Given the description of an element on the screen output the (x, y) to click on. 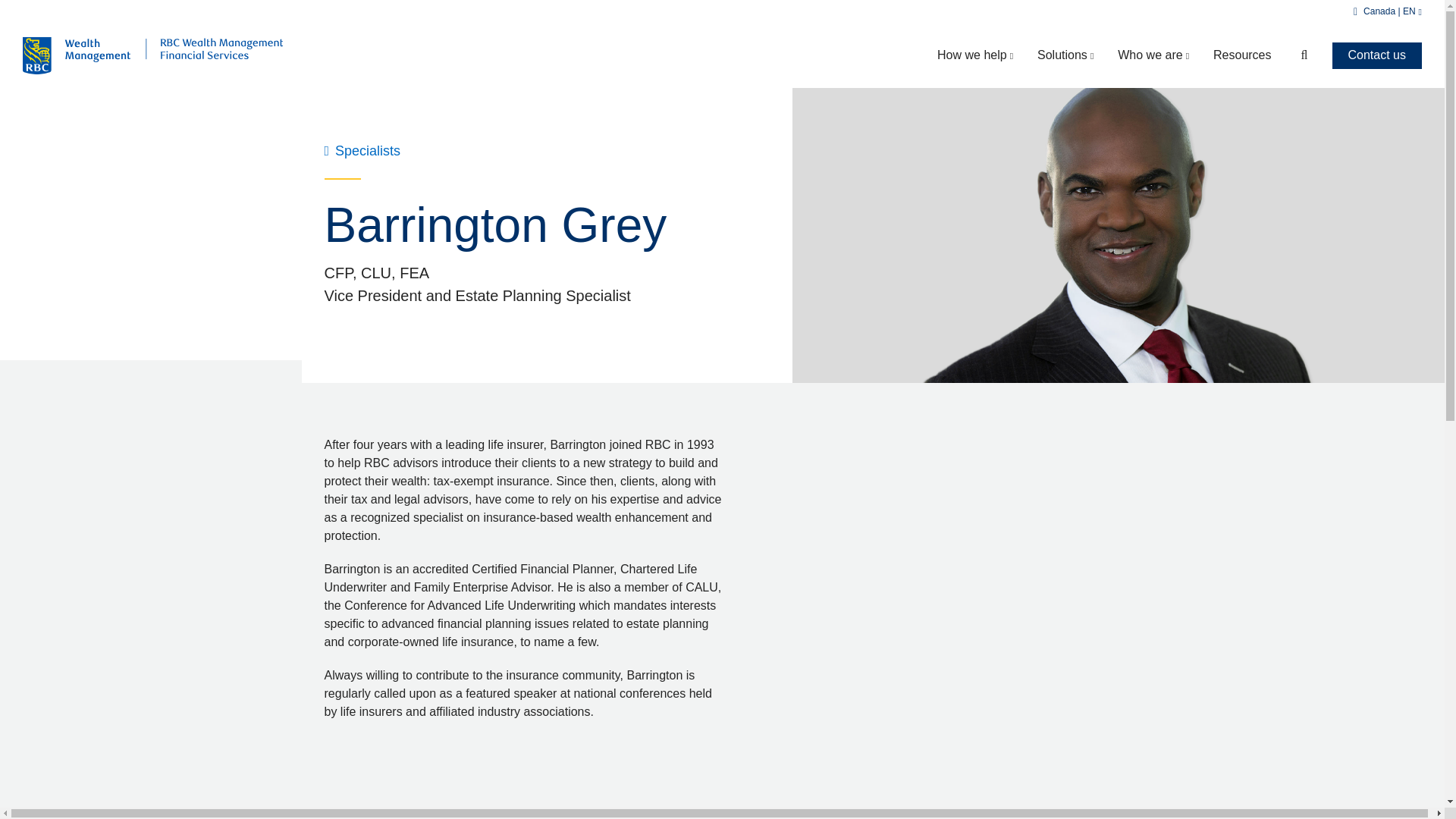
Resources (1241, 55)
Search (722, 54)
Contact us (1295, 55)
Solutions (1377, 55)
How we help (1065, 55)
Who we are (974, 55)
